Given the description of an element on the screen output the (x, y) to click on. 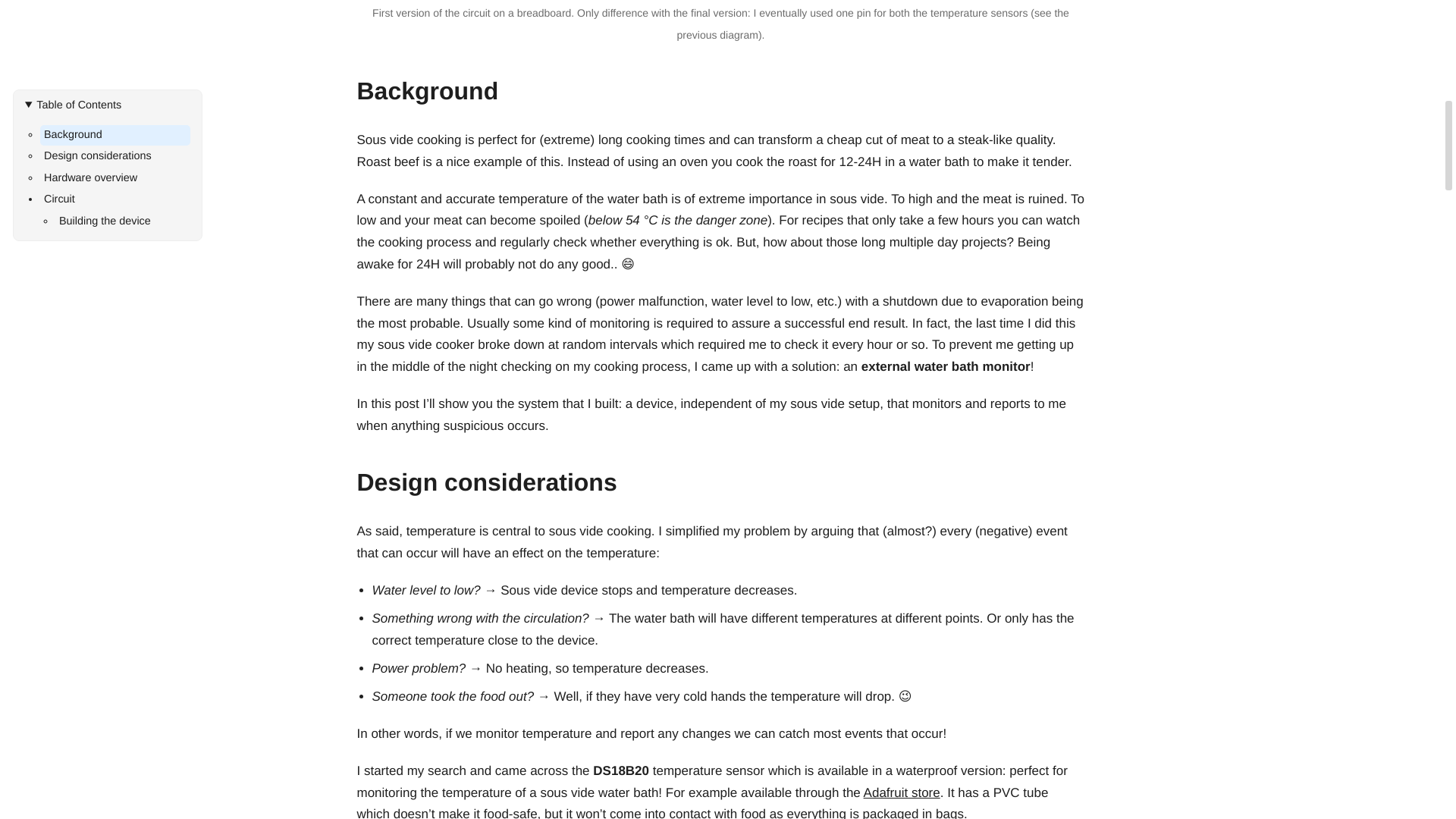
Adafruit store (901, 792)
